Given the description of an element on the screen output the (x, y) to click on. 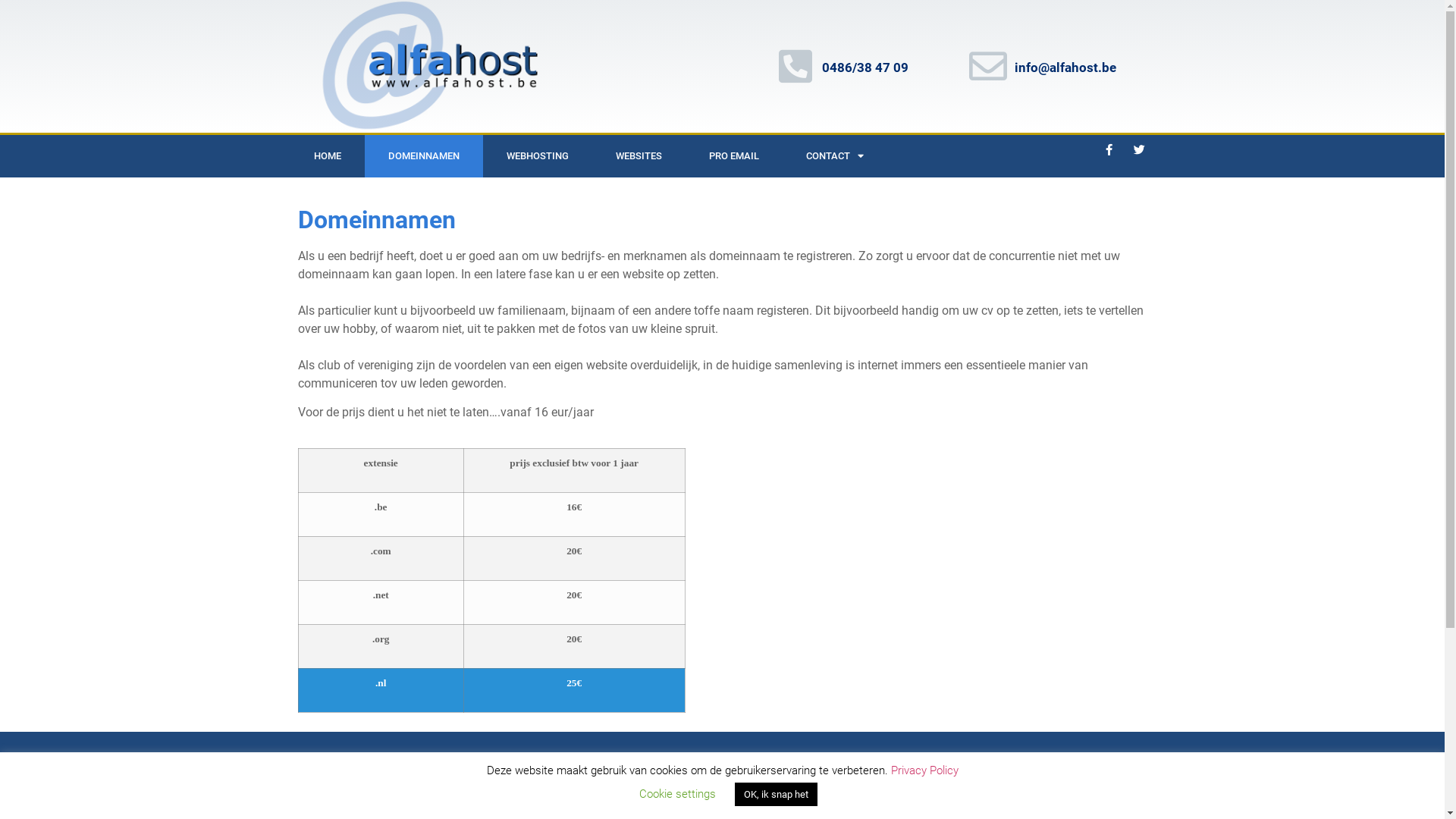
OK, ik snap het Element type: text (775, 794)
DOMEINNAMEN Element type: text (423, 155)
Cookie settings Element type: text (676, 793)
PRO EMAIL Element type: text (733, 155)
HOME Element type: text (326, 155)
Privacy Policy Element type: text (923, 769)
WEBHOSTING Element type: text (536, 155)
WEBSITES Element type: text (637, 155)
CONTACT Element type: text (834, 155)
